Given the description of an element on the screen output the (x, y) to click on. 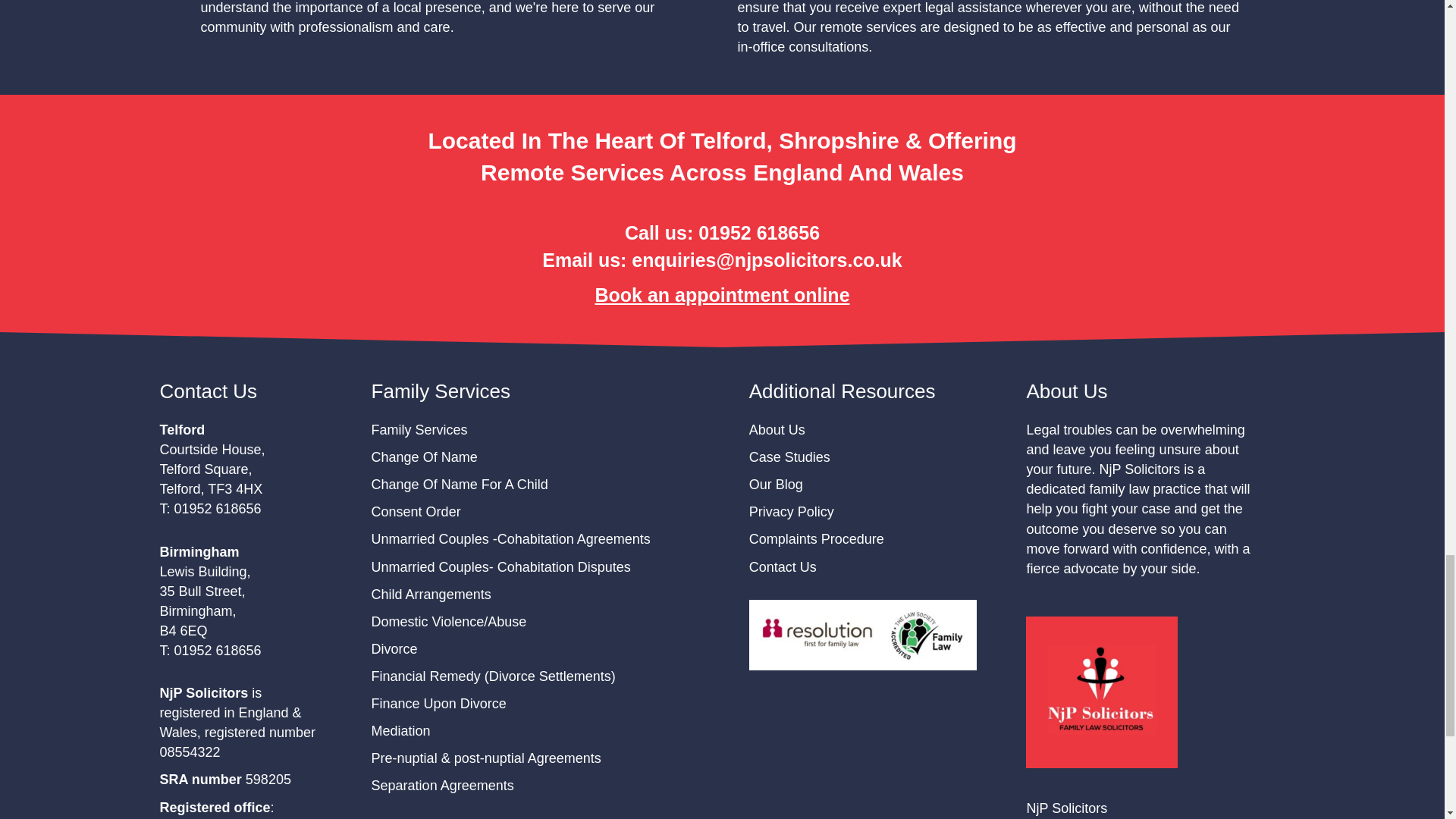
Case Studies (789, 457)
About Us (777, 429)
Child Arrangements (431, 594)
Unmarried Couples- Cohabitation Disputes (500, 566)
Finance Upon Divorce (438, 703)
NJP social media (1101, 692)
01952 618656 (758, 232)
Change Of Name (424, 457)
Privacy Policy (791, 511)
Separation Agreements (442, 785)
